Given the description of an element on the screen output the (x, y) to click on. 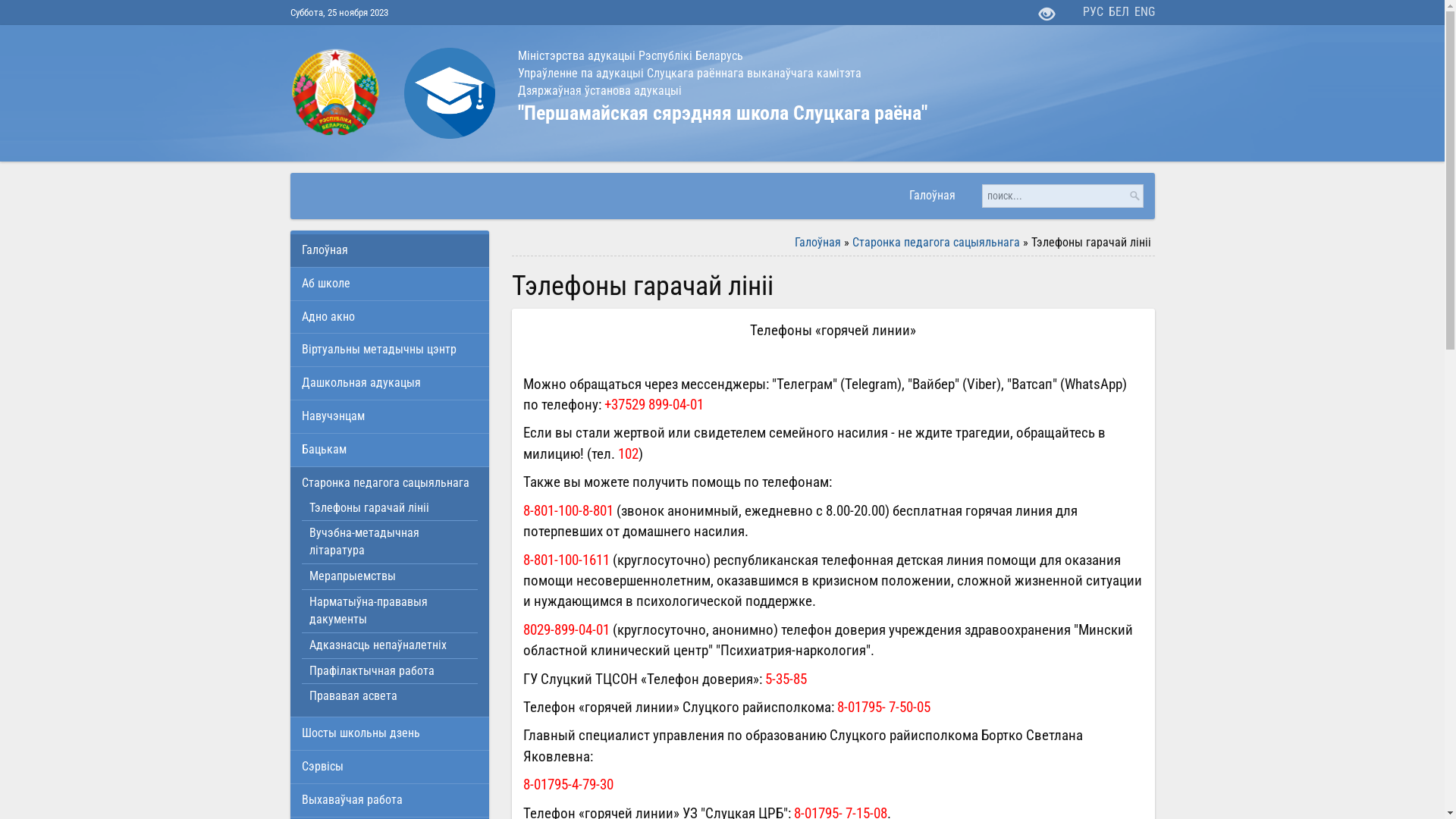
ENG Element type: text (1144, 12)
